Given the description of an element on the screen output the (x, y) to click on. 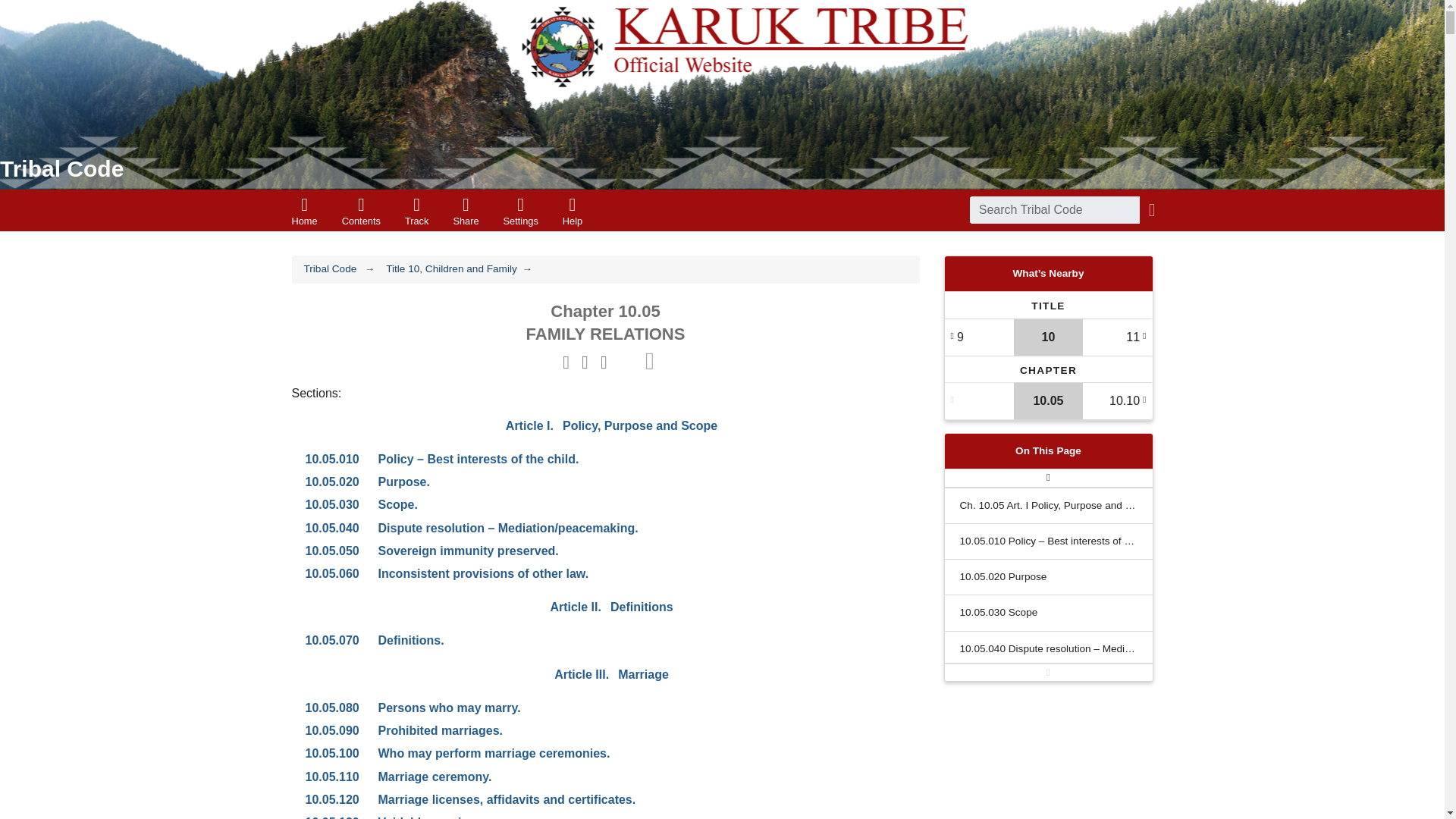
Share (465, 209)
Title 10, Children and Family (450, 268)
Tribal Code (61, 168)
Karuk Tribal Code (610, 550)
Help (61, 168)
Home (610, 573)
Contents (572, 209)
Settings (610, 504)
Track (304, 209)
Tribal Code (361, 209)
